Given the description of an element on the screen output the (x, y) to click on. 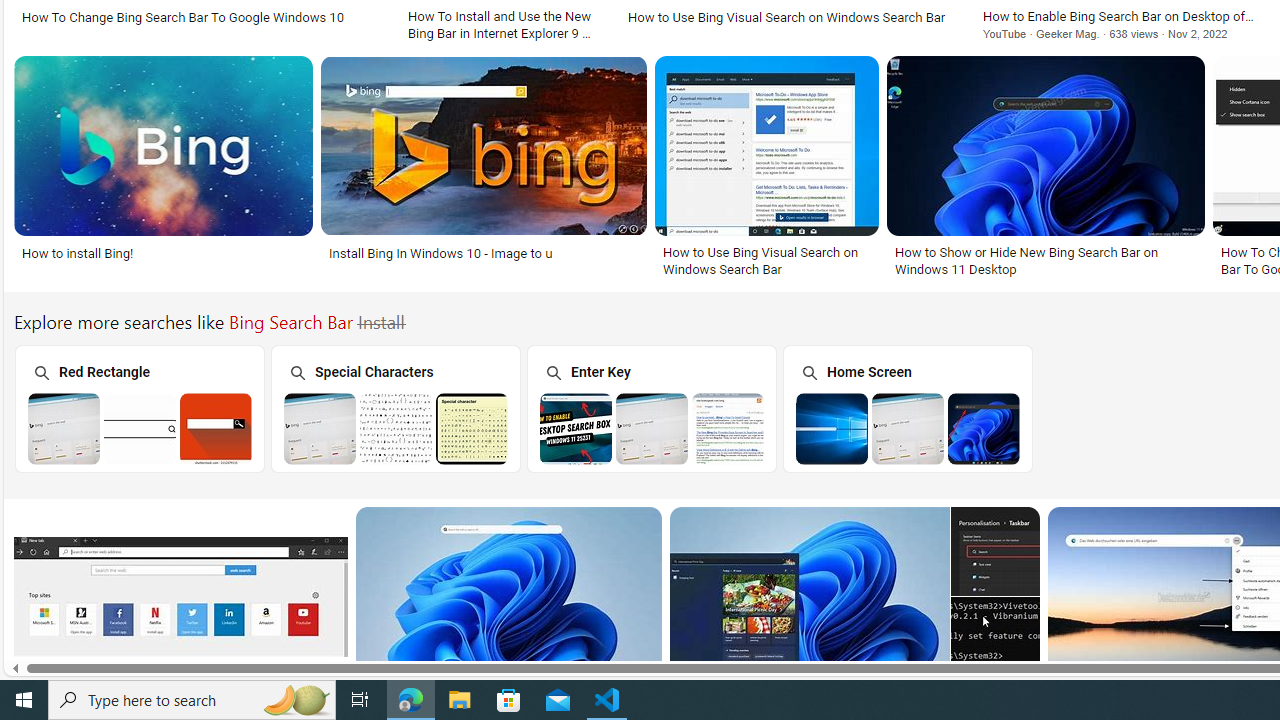
Special Characters (395, 407)
Red Rectangle Bing Search Bar Red Rectangle (139, 408)
Install Bing In Windows 10 - Image to u (483, 253)
